Given the description of an element on the screen output the (x, y) to click on. 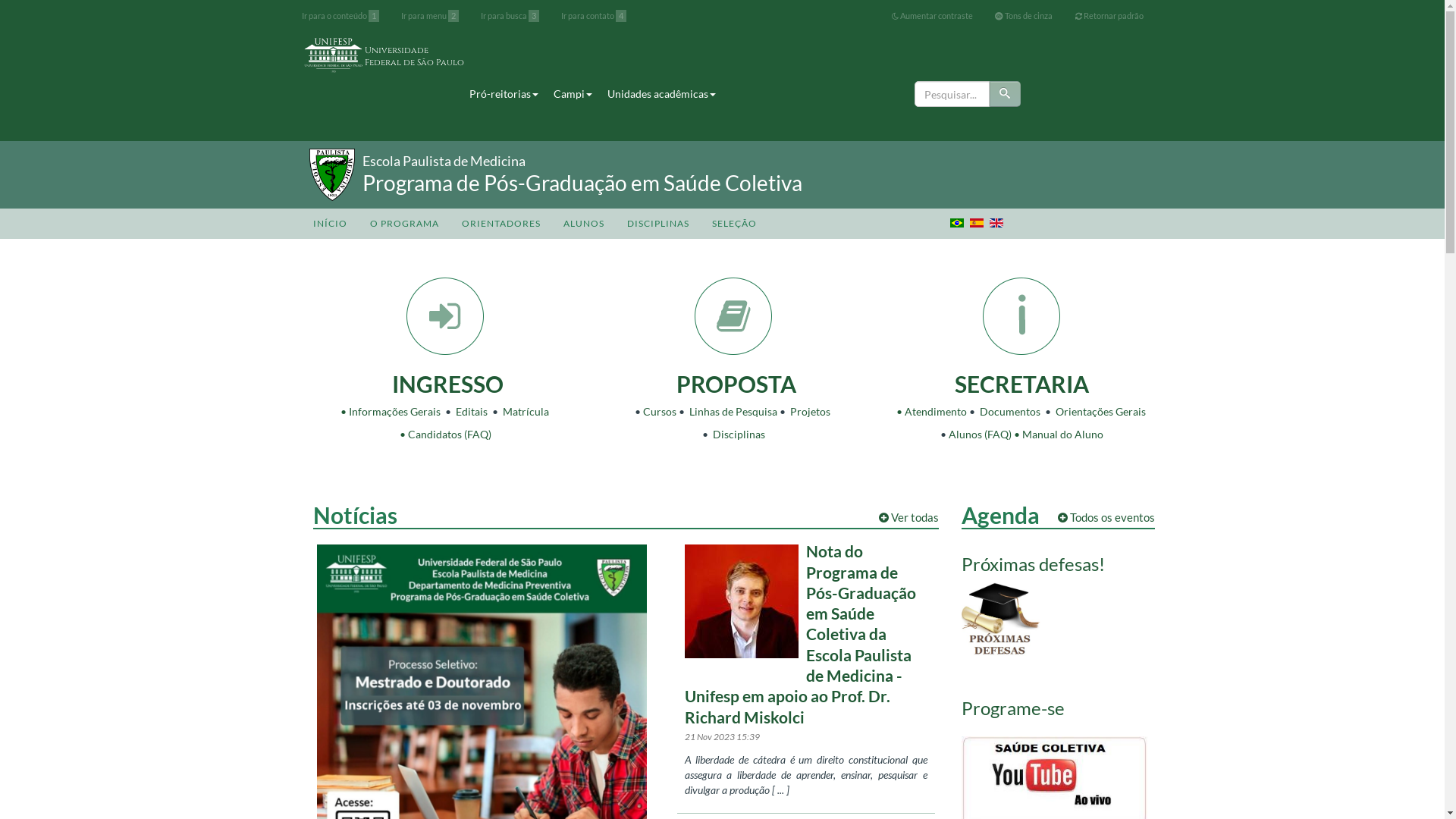
English (UK) Element type: hover (995, 222)
O PROGRAMA Element type: text (403, 223)
Ver todas Element type: text (908, 517)
Disciplinas Element type: text (738, 433)
OK Element type: hover (1004, 93)
Cursos Element type: text (659, 410)
Tons de cinza Element type: text (1023, 15)
Editais Element type: text (470, 410)
DISCIPLINAS Element type: text (657, 223)
 INGRESSO Element type: text (445, 383)
 PROPOSTA Element type: text (733, 383)
Todos os eventos Element type: text (1105, 517)
Projetos Element type: text (810, 410)
ALUNOS Element type: text (583, 223)
Manual do Aluno Element type: text (1062, 433)
Campi Element type: text (572, 93)
SECRETARIA Element type: text (1021, 383)
Linhas de Pesquisa Element type: text (733, 410)
Programe-se Element type: text (1012, 707)
Alunos (FAQ) Element type: text (979, 433)
ORIENTADORES Element type: text (501, 223)
Aumentar contraste Element type: text (931, 15)
Espanhol (ES) Element type: hover (975, 222)
Documentos Element type: text (1009, 410)
Ir para busca 3 Element type: text (509, 15)
Candidatos (FAQ) Element type: text (449, 433)
Ir para menu 2 Element type: text (429, 15)
Ir para contato 4 Element type: text (593, 15)
